Given the description of an element on the screen output the (x, y) to click on. 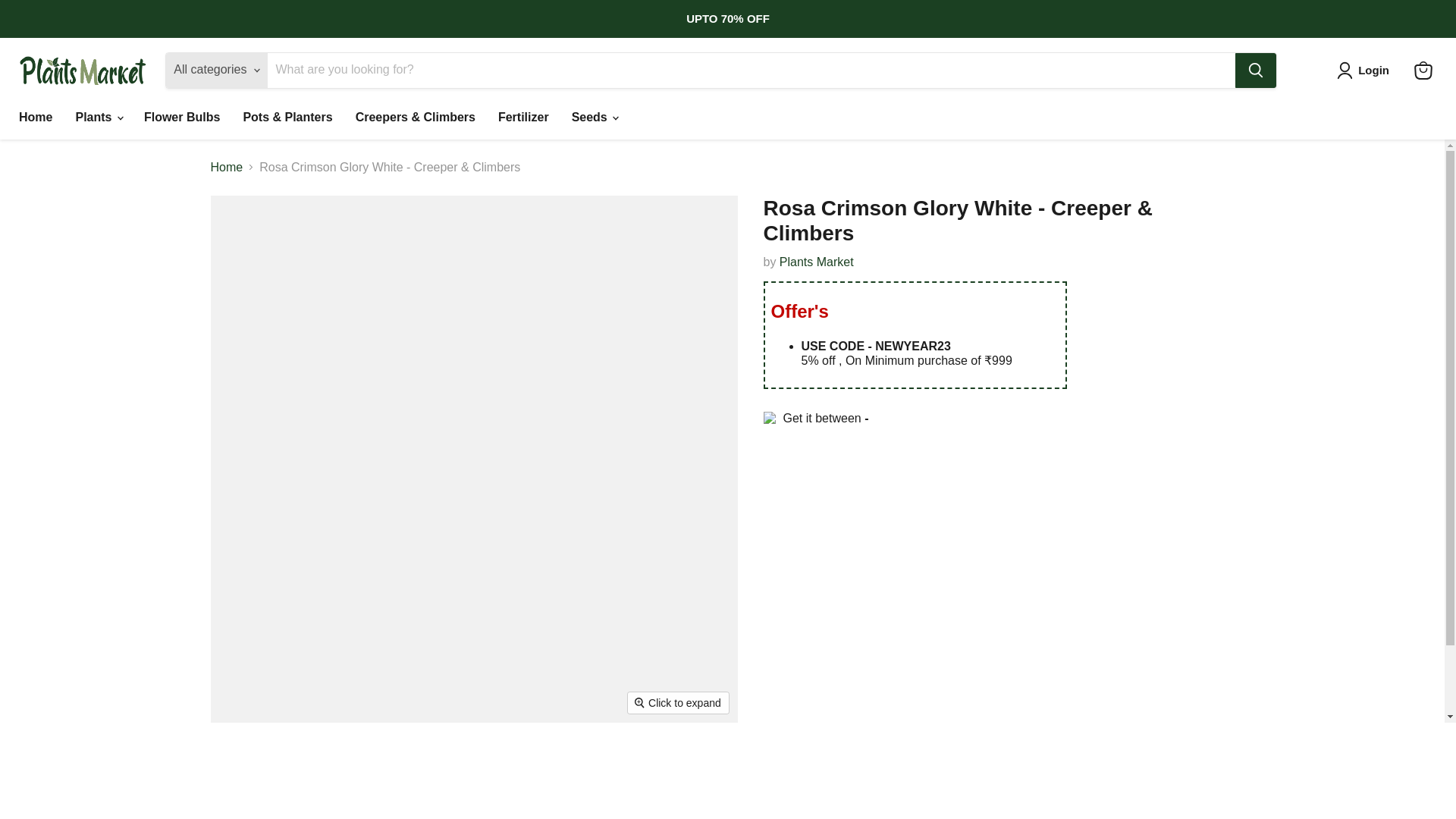
Fertilizer (523, 117)
Login (1365, 70)
Home (35, 117)
Flower Bulbs (181, 117)
Plants Market (815, 261)
View cart (1422, 69)
